Given the description of an element on the screen output the (x, y) to click on. 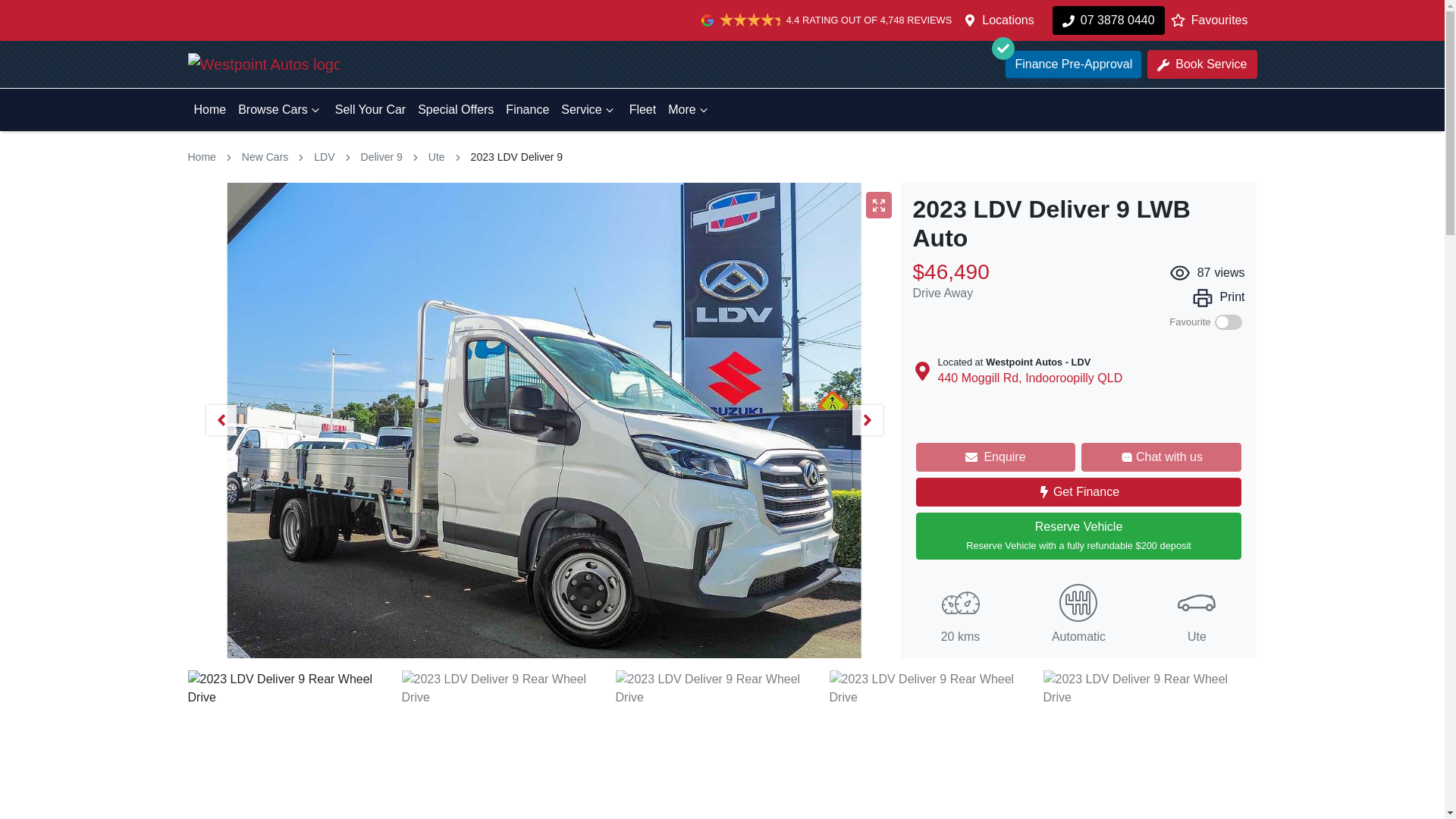
Finance Pre-Approval (1073, 63)
Sell Your Car (370, 110)
Enquire (995, 457)
Print (1217, 296)
Get Finance (1078, 491)
Finance (526, 110)
Favourites (1213, 20)
Service (588, 110)
Home (201, 156)
Home (209, 110)
on (1227, 322)
Fleet (642, 110)
Special Offers (455, 110)
Locations (1007, 19)
Browse Cars (280, 110)
